Given the description of an element on the screen output the (x, y) to click on. 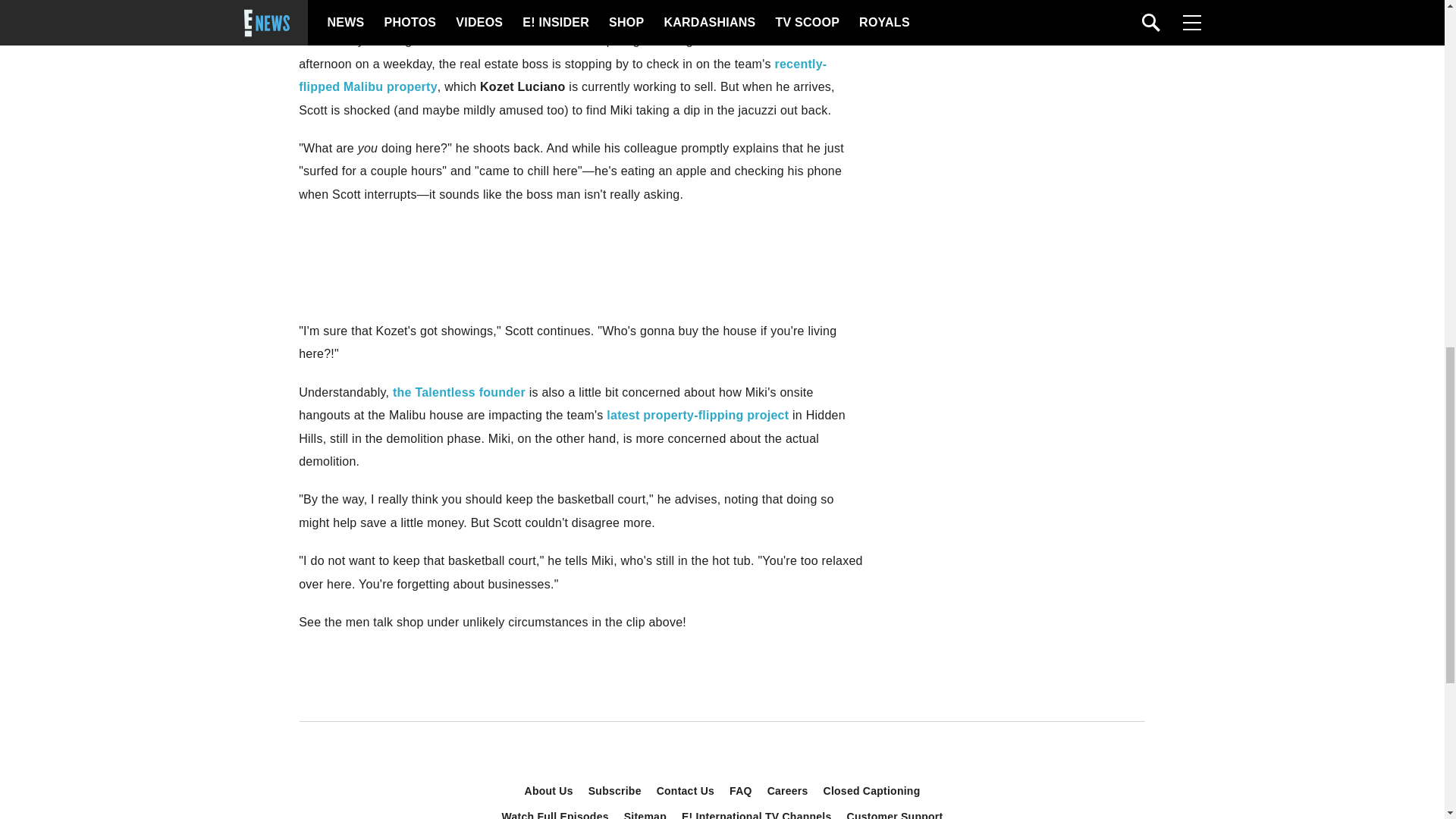
latest property-flipping project (698, 414)
recently-flipped Malibu property (562, 75)
the Talentless founder (459, 391)
